Given the description of an element on the screen output the (x, y) to click on. 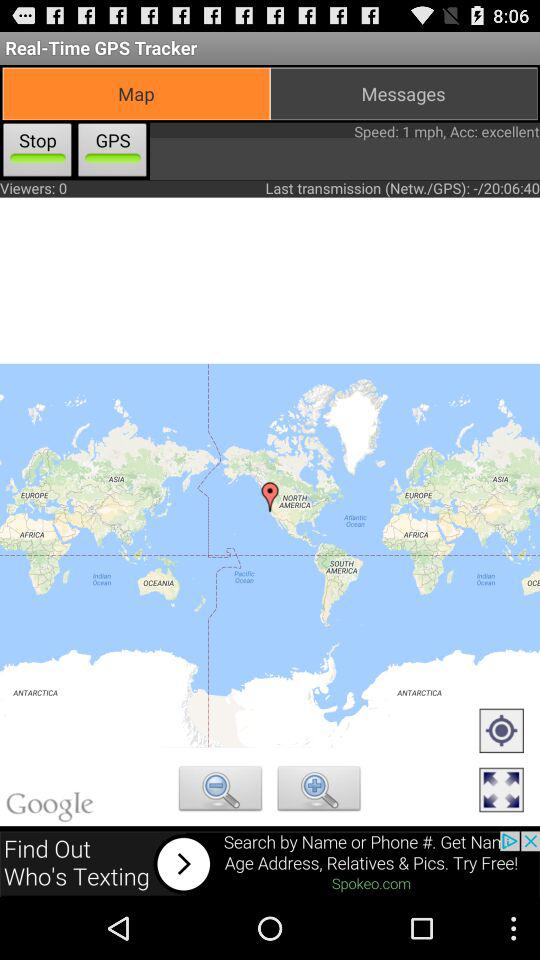
zoom out (220, 791)
